Given the description of an element on the screen output the (x, y) to click on. 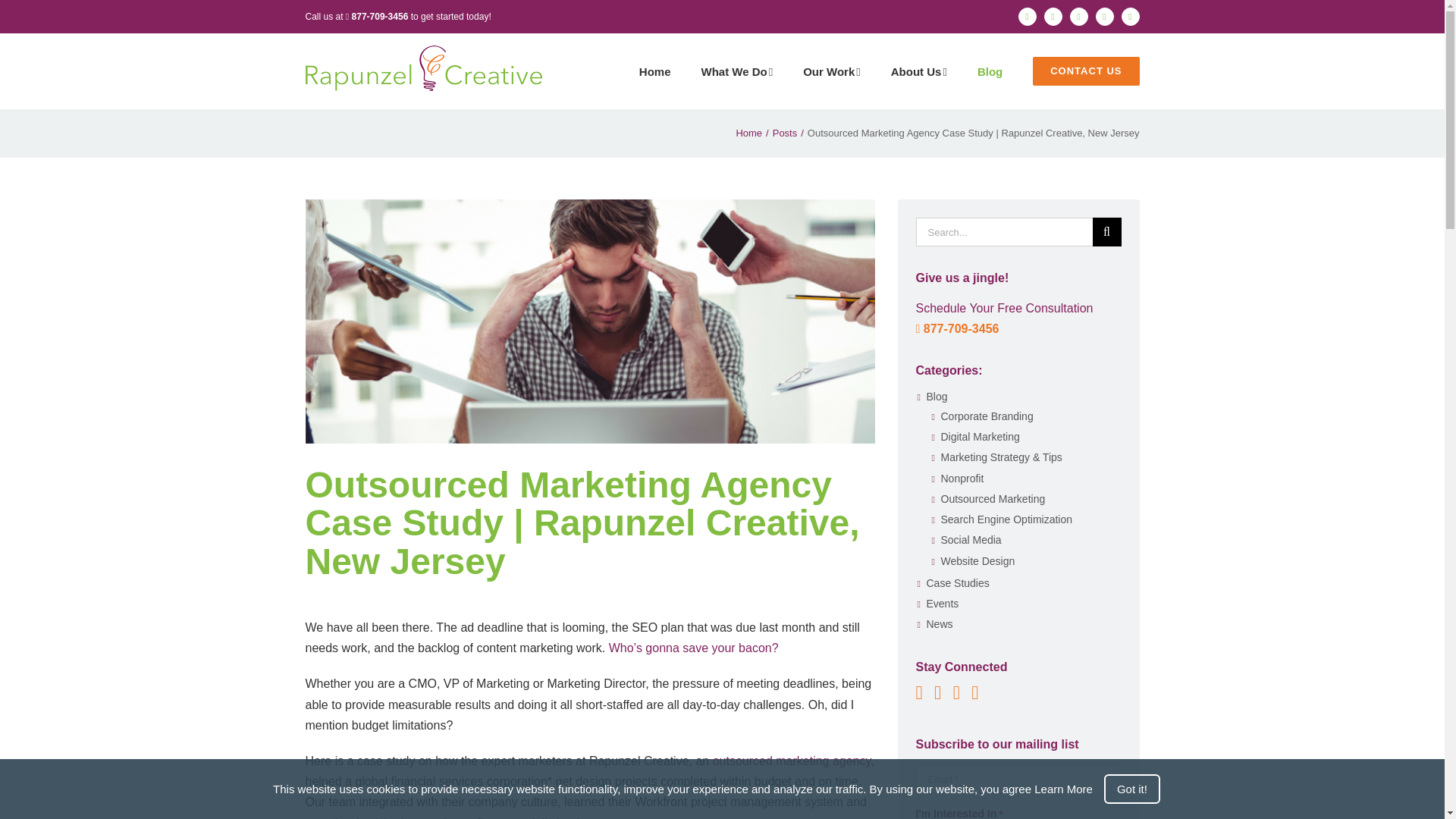
What We Do (736, 70)
Facebook (1078, 16)
YouTube (1130, 16)
LinkedIn (1026, 16)
X (1104, 16)
LinkedIn (1026, 16)
YouTube (1130, 16)
877-709-3456 (376, 16)
Instagram (1052, 16)
X (1104, 16)
Instagram (1052, 16)
Facebook (1078, 16)
